Given the description of an element on the screen output the (x, y) to click on. 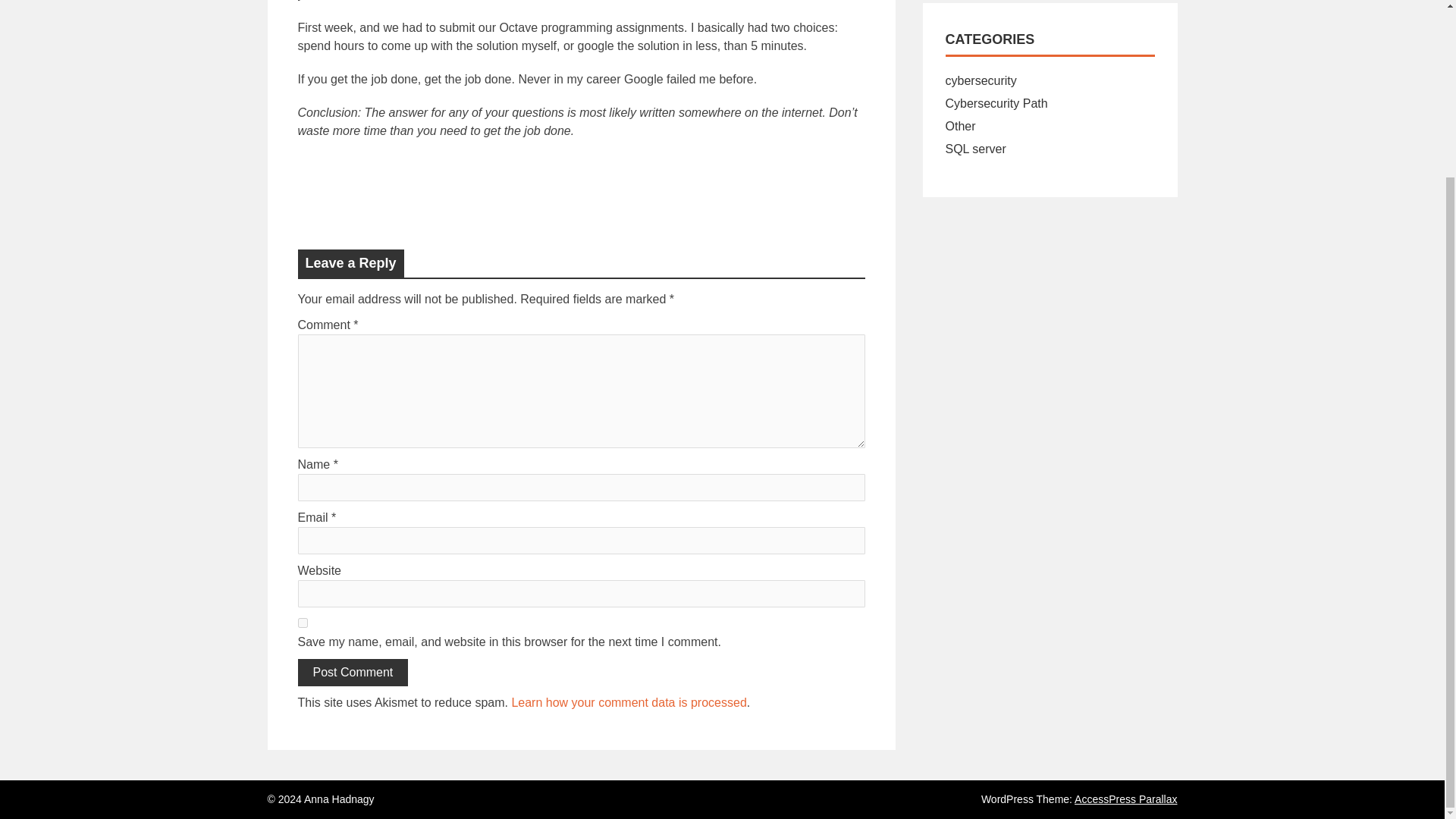
WordPress Free Themes (1125, 799)
yes (302, 623)
Other (959, 125)
Post Comment (352, 672)
Post Comment (352, 672)
cybersecurity (980, 80)
AccessPress Parallax (1125, 799)
Learn how your comment data is processed (628, 702)
SQL server (975, 148)
Cybersecurity Path (995, 103)
